Given the description of an element on the screen output the (x, y) to click on. 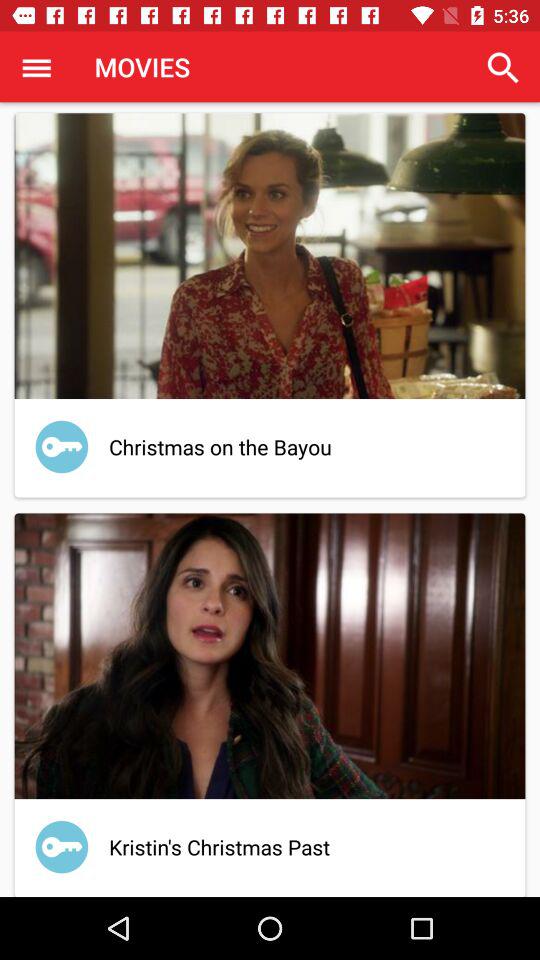
press the item next to the movies item (503, 67)
